Given the description of an element on the screen output the (x, y) to click on. 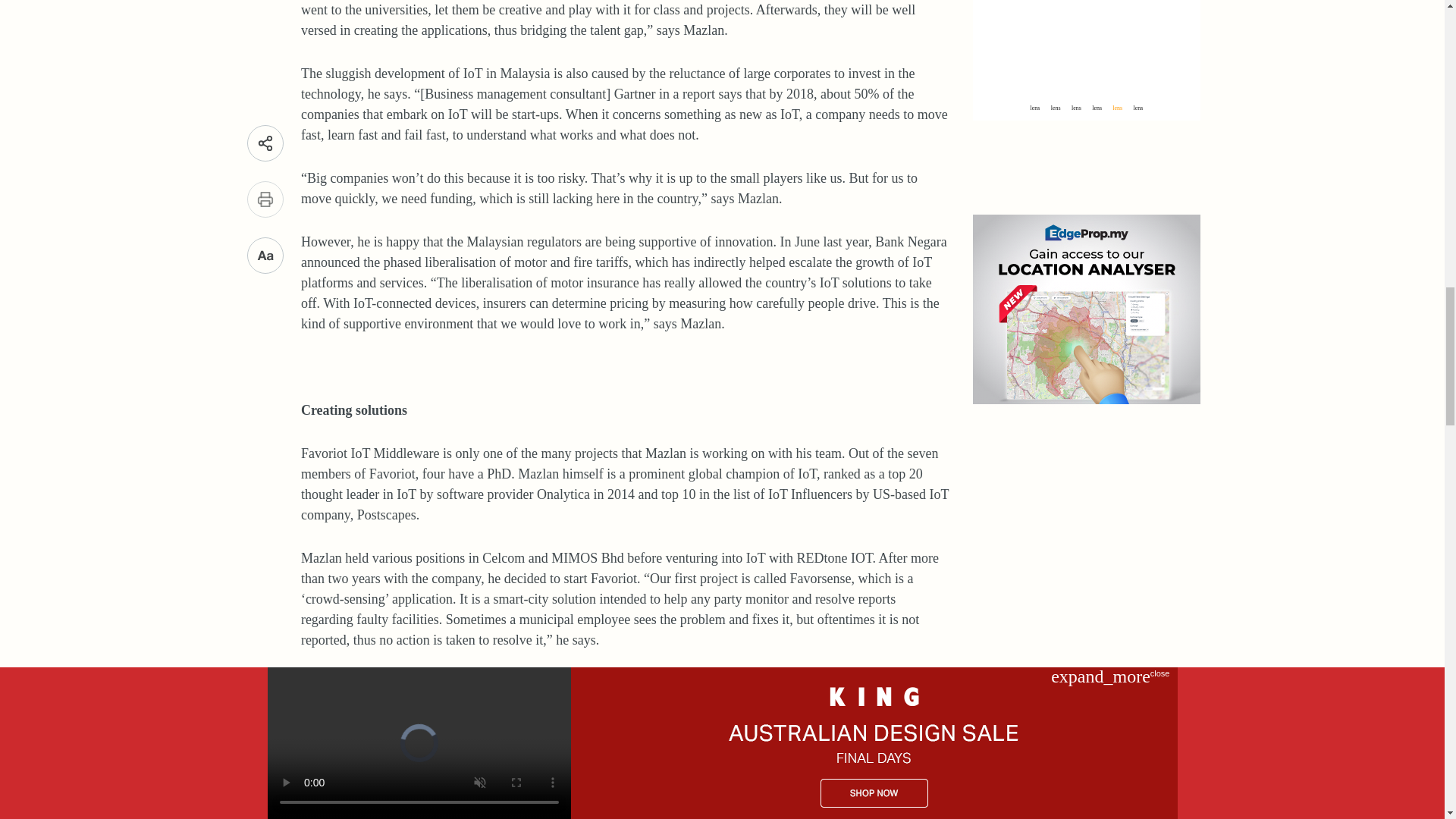
3rd party ad content (1085, 165)
3rd party ad content (1085, 310)
